Given the description of an element on the screen output the (x, y) to click on. 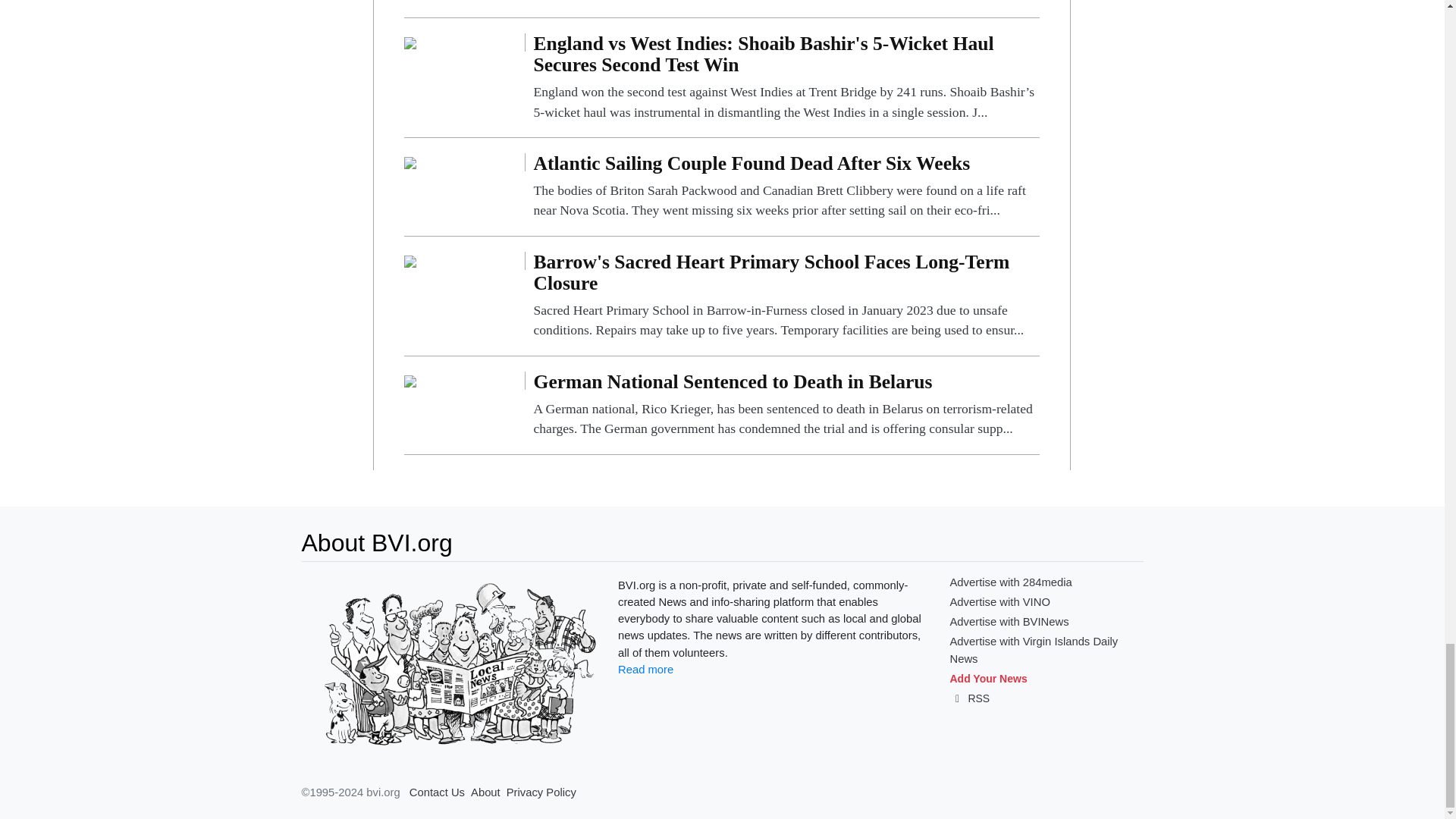
Atlantic Sailing Couple Found Dead After Six Weeks (410, 161)
Barrow's Sacred Heart Primary School Faces Long-Term Closure (785, 295)
Read more (644, 669)
Atlantic Sailing Couple Found Dead After Six Weeks (785, 186)
Advertise with 284media (1010, 582)
Barrow's Sacred Heart Primary School Faces Long-Term Closure (410, 259)
